Given the description of an element on the screen output the (x, y) to click on. 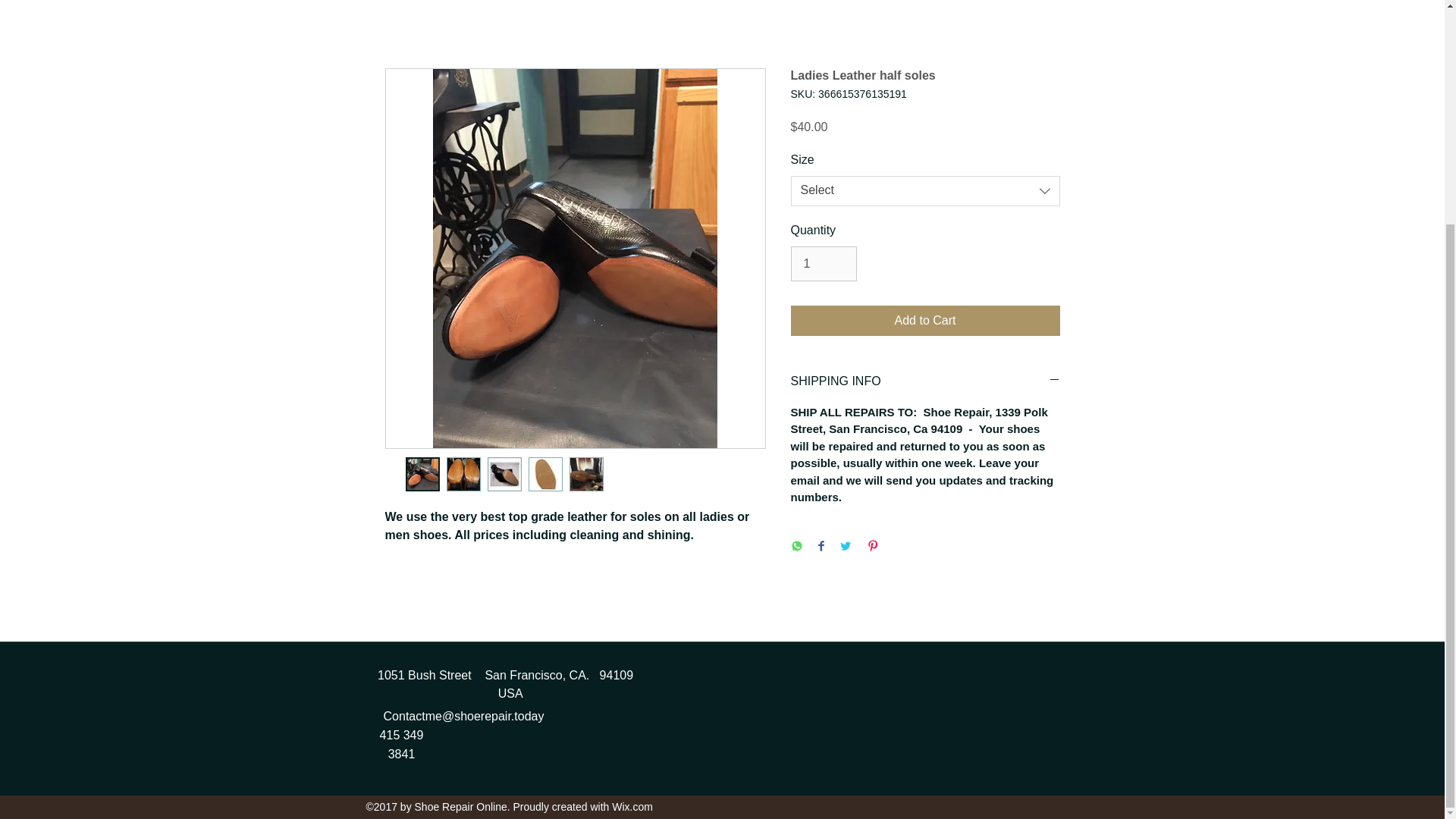
Select (924, 191)
SHIPPING INFO (924, 381)
1 (823, 263)
Add to Cart (924, 320)
